Given the description of an element on the screen output the (x, y) to click on. 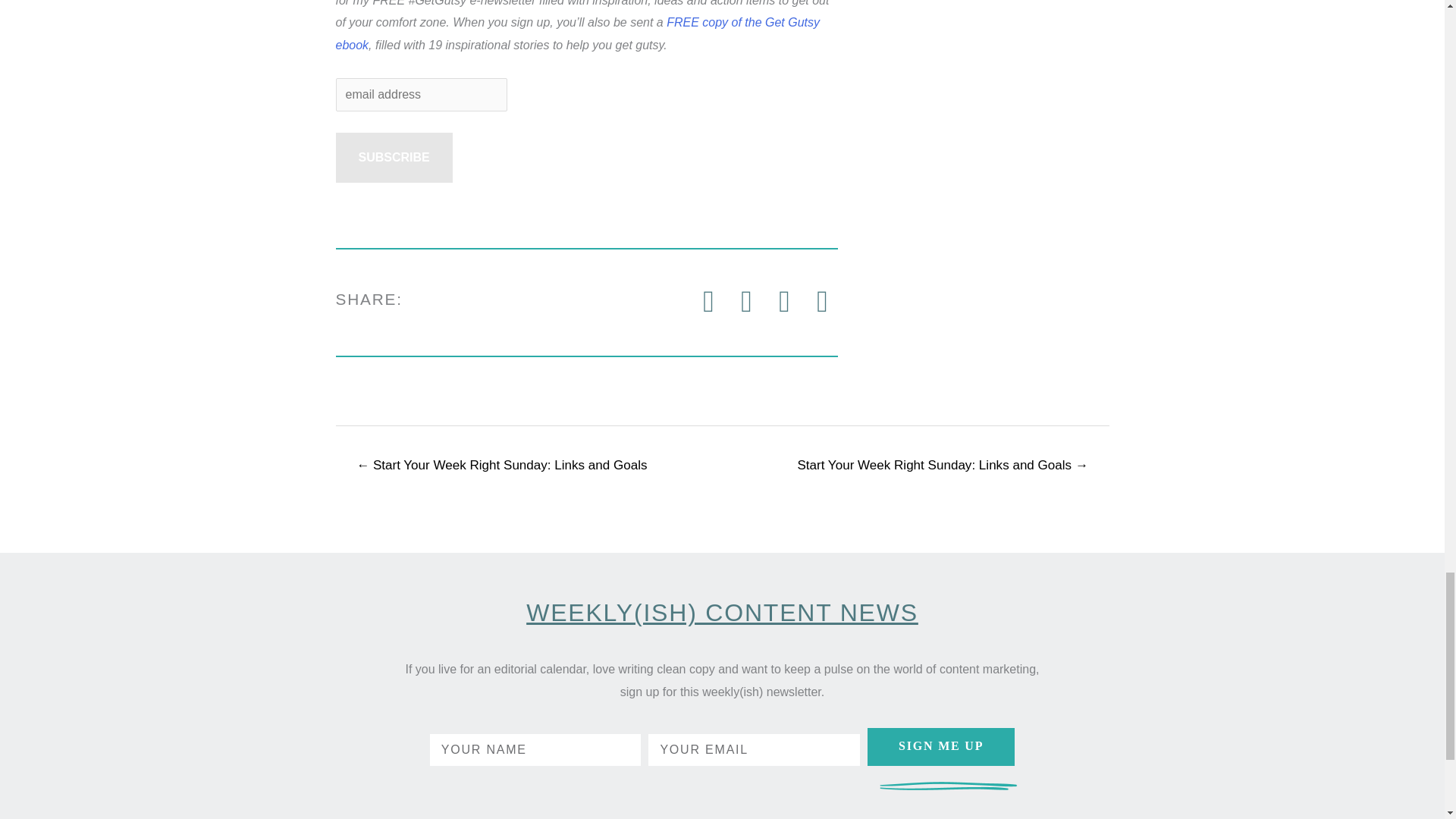
Subscribe (392, 157)
Subscribe (392, 157)
SIGN ME UP (940, 746)
FREE copy of the Get Gutsy ebook (576, 33)
